Given the description of an element on the screen output the (x, y) to click on. 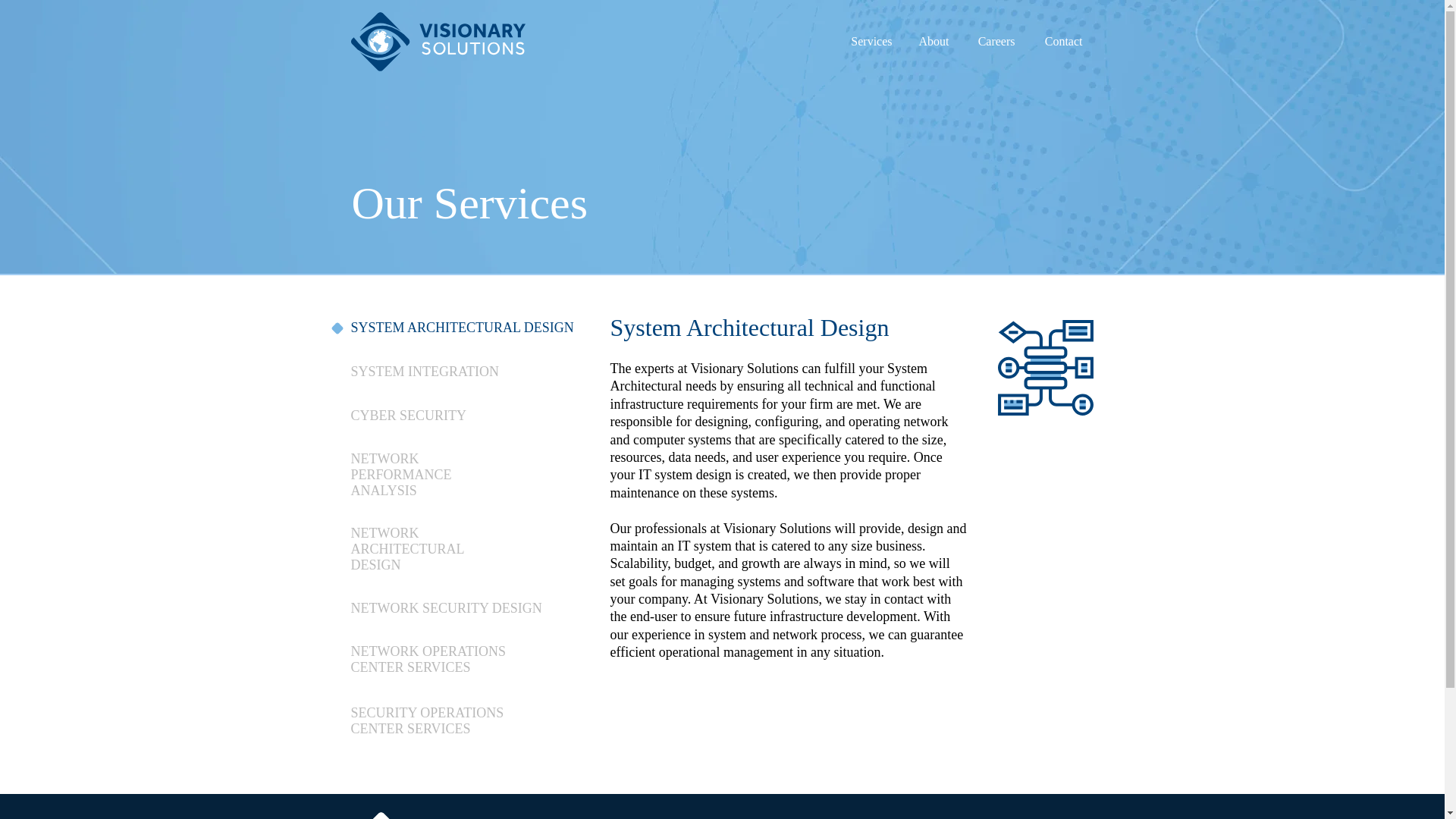
NETWORK SECURITY DESIGN (445, 607)
Careers (992, 41)
NETWORK PERFORMANCE ANALYSIS (400, 474)
Services (869, 41)
SYSTEM ARCHITECTURAL DESIGN (461, 327)
SECURITY OPERATIONS CENTER SERVICES (426, 720)
NETWORK OPERATIONS CENTER SERVICES (427, 658)
NETWORK ARCHITECTURAL DESIGN (406, 548)
Contact (1060, 41)
About (932, 41)
SYSTEM INTEGRATION (424, 371)
CYBER SECURITY (407, 415)
